Given the description of an element on the screen output the (x, y) to click on. 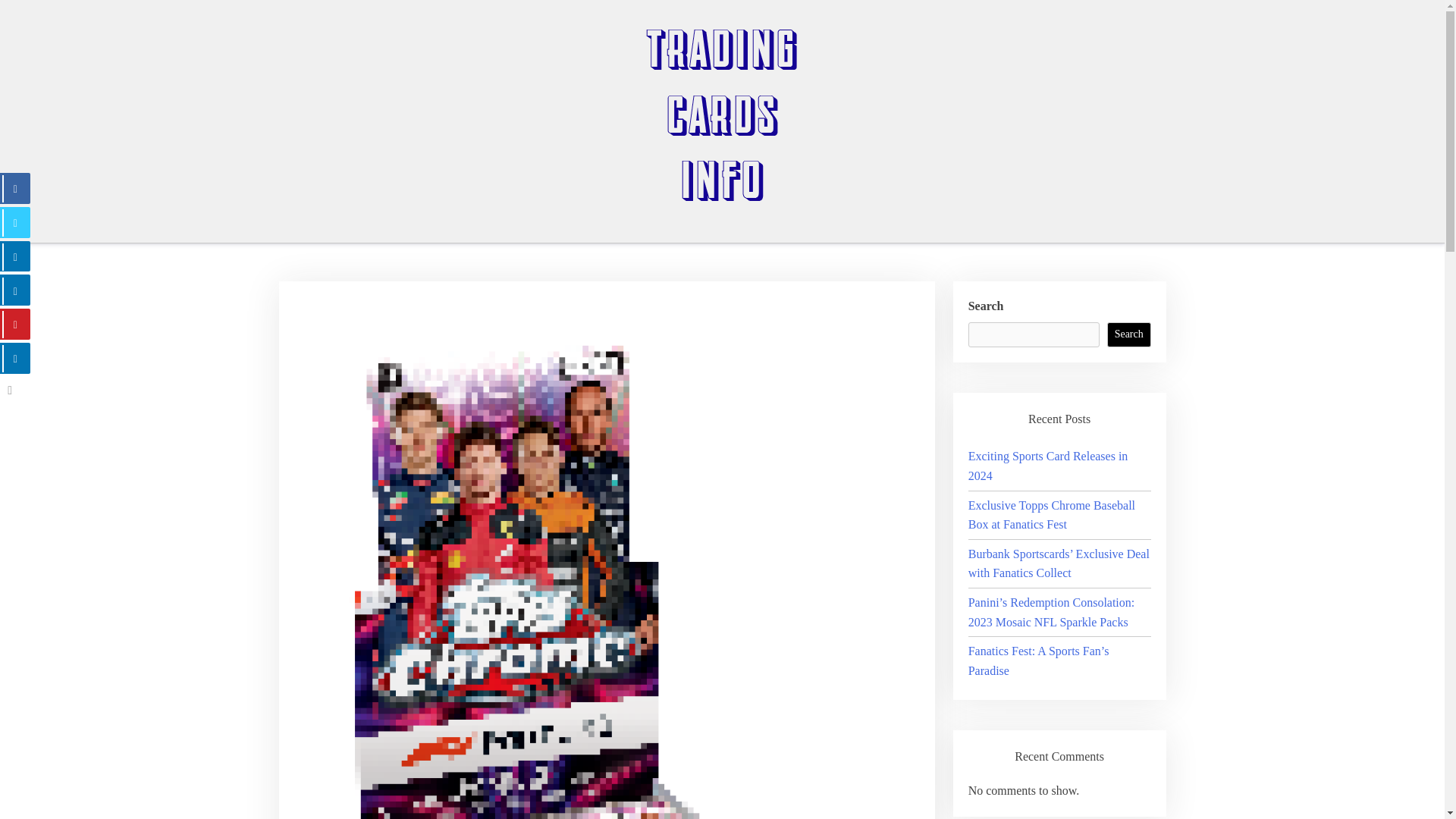
Exclusive Topps Chrome Baseball Box at Fanatics Fest (1051, 514)
Exciting Sports Card Releases in 2024 (1048, 465)
Trading Cards Info (157, 238)
Search (1128, 335)
